Given the description of an element on the screen output the (x, y) to click on. 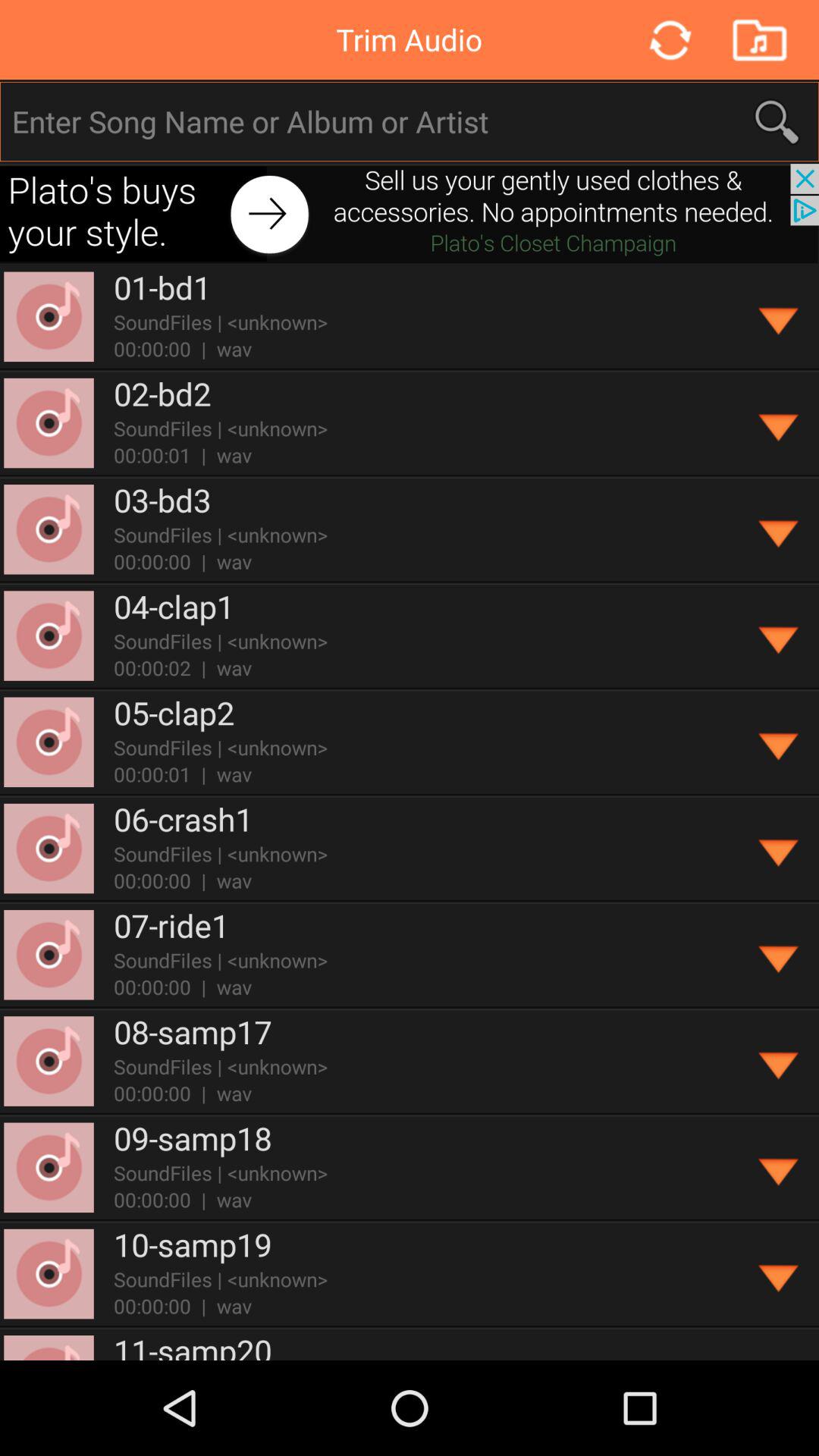
show more options (779, 529)
